Given the description of an element on the screen output the (x, y) to click on. 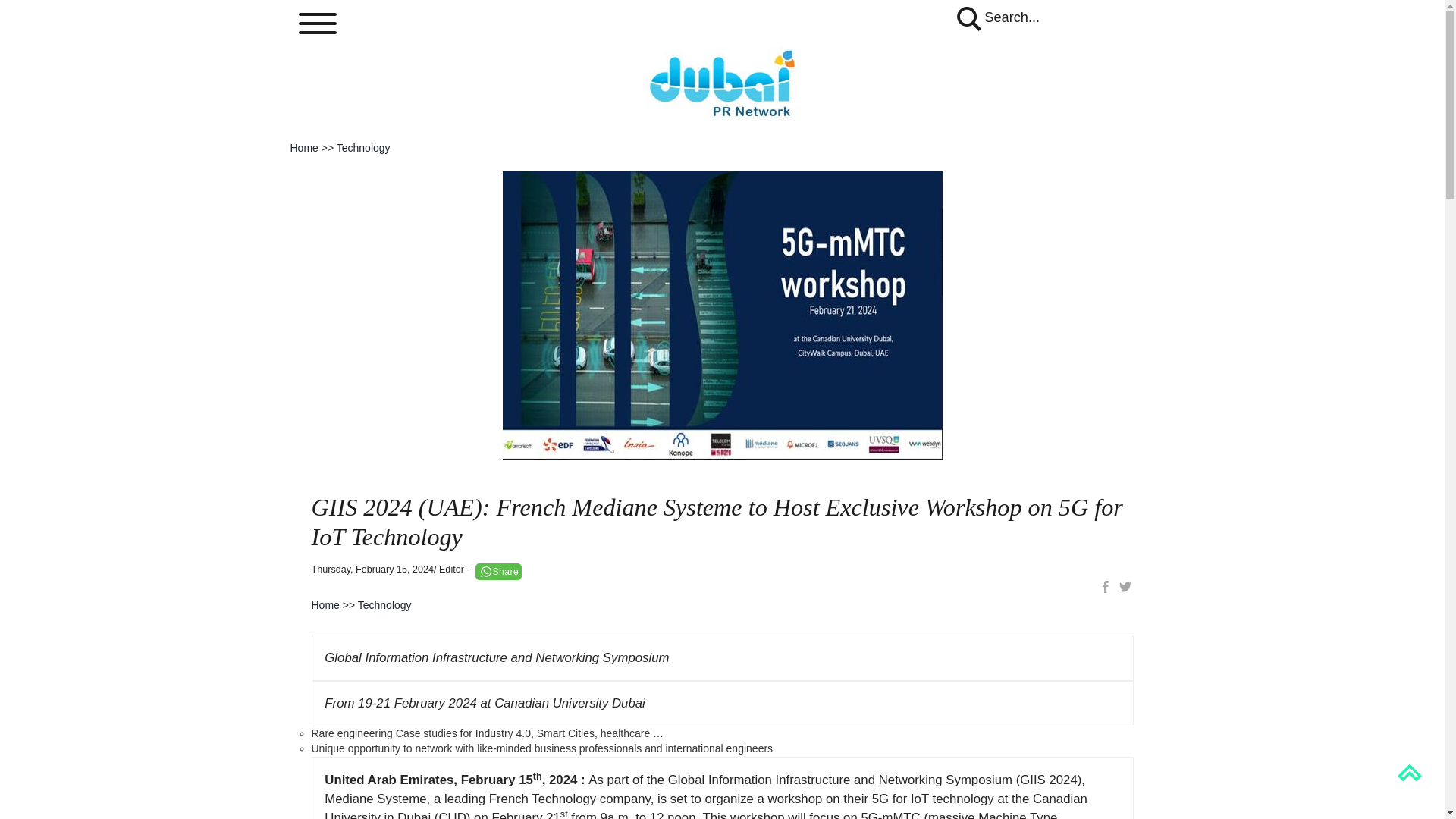
Home (325, 604)
Technology (385, 604)
Home (303, 147)
Share (499, 571)
Search... (997, 17)
Facebook (1105, 586)
Technology (363, 147)
Twitter (1124, 586)
